Given the description of an element on the screen output the (x, y) to click on. 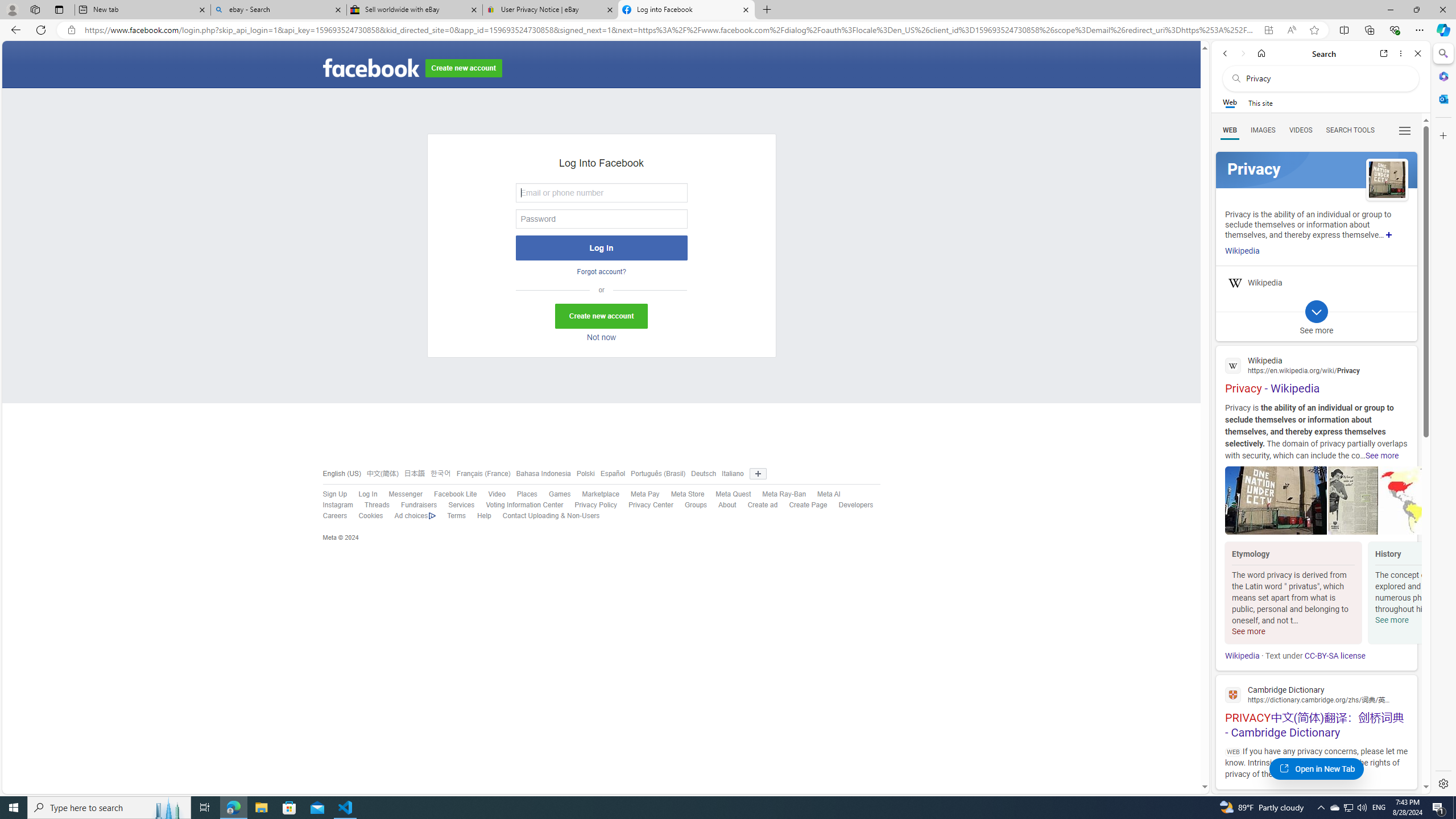
Search the web (1326, 78)
WEB   (1230, 130)
Developers (850, 505)
Groups (695, 505)
Meta Ray-Ban (783, 493)
VIDEOS (1300, 130)
Create Page (802, 505)
Class: b_serphb (1404, 130)
Italiano (733, 473)
